Given the description of an element on the screen output the (x, y) to click on. 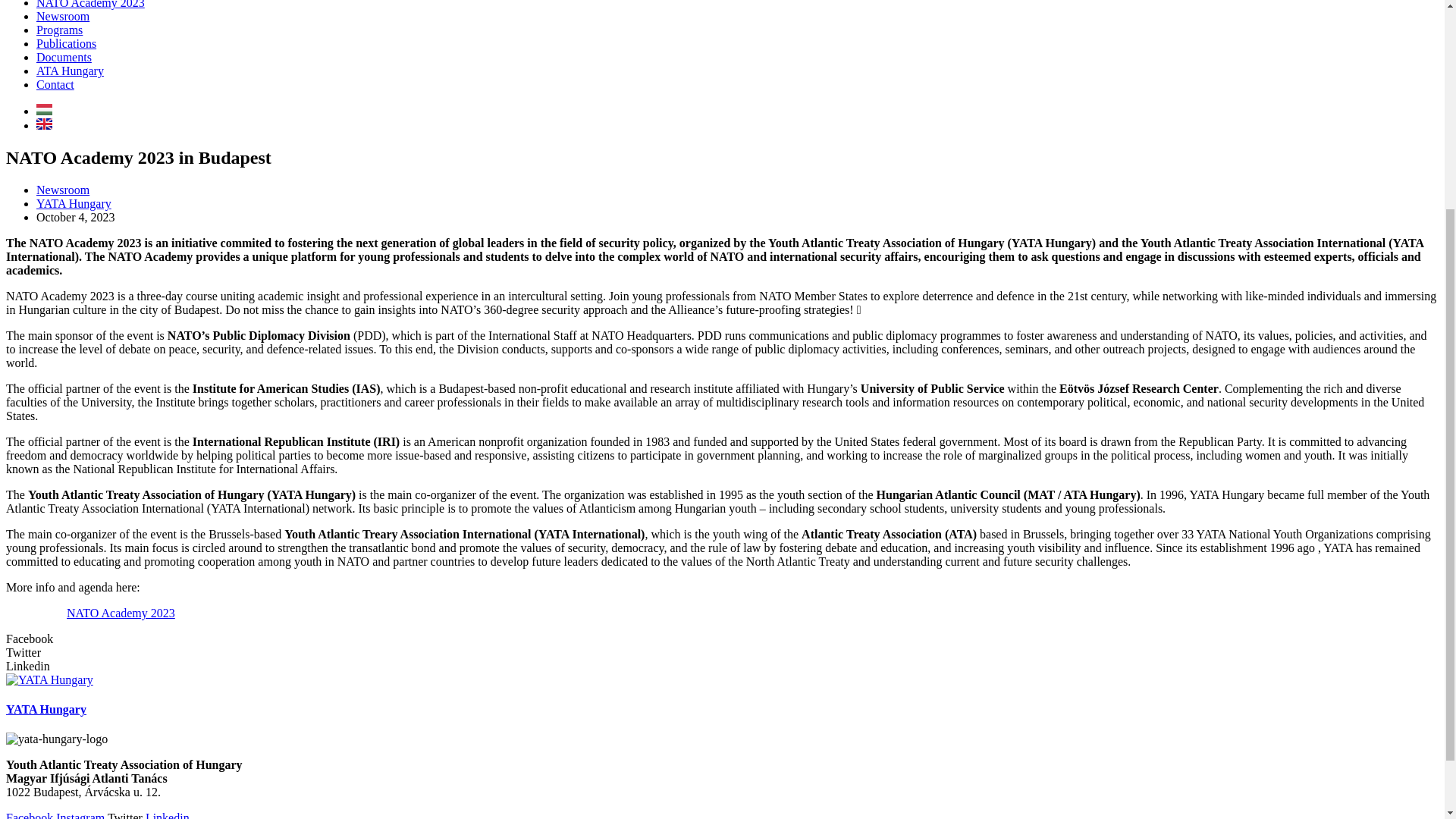
YATA Hungary (74, 203)
Programs (59, 29)
Documents (63, 56)
Newsroom (62, 15)
Contact (55, 83)
Newsroom (62, 189)
Publications (66, 42)
ATA Hungary (69, 70)
NATO Academy 2023 (120, 612)
NATO Academy 2023 (90, 4)
